Given the description of an element on the screen output the (x, y) to click on. 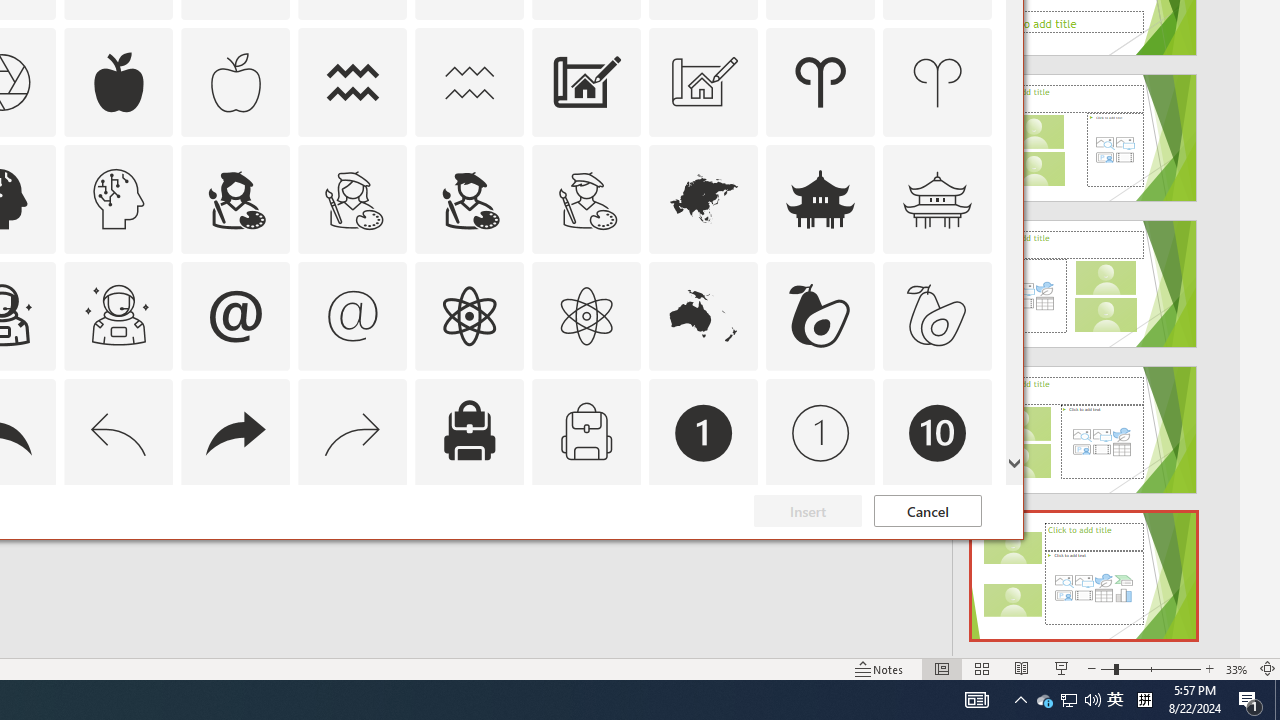
AutomationID: Icons_ArtificialIntelligence_M (118, 198)
AutomationID: Icons_Aquarius (353, 82)
AutomationID: Icons_Apple (118, 82)
AutomationID: Icons_Avocado_M (938, 316)
AutomationID: Icons_Apple_M (235, 82)
AutomationID: Icons_Back_RTL_M (353, 432)
